Given the description of an element on the screen output the (x, y) to click on. 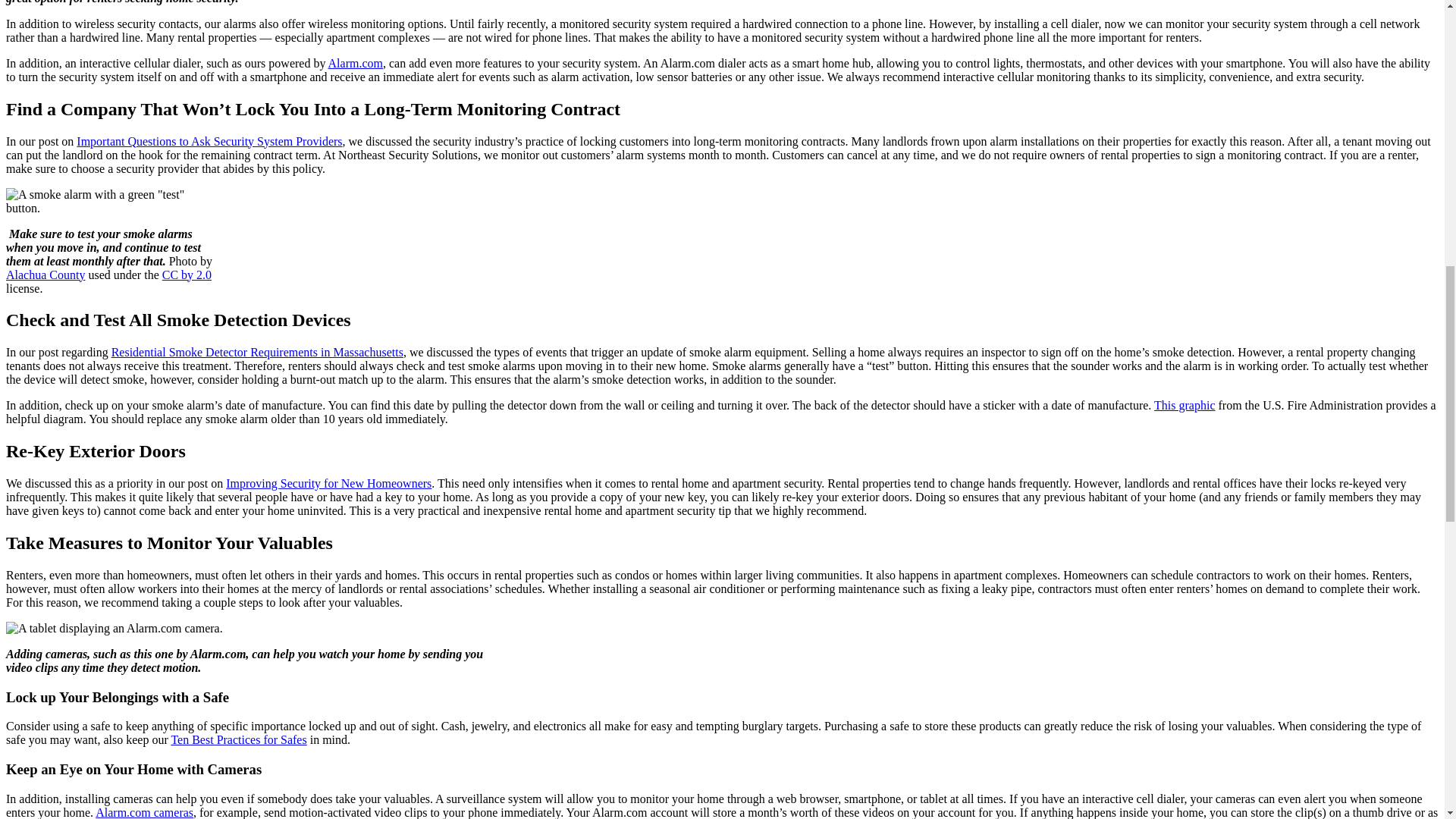
Important Questions to Ask Security System Providers (209, 141)
Alarm.com (355, 62)
Alachua County (44, 274)
